Given the description of an element on the screen output the (x, y) to click on. 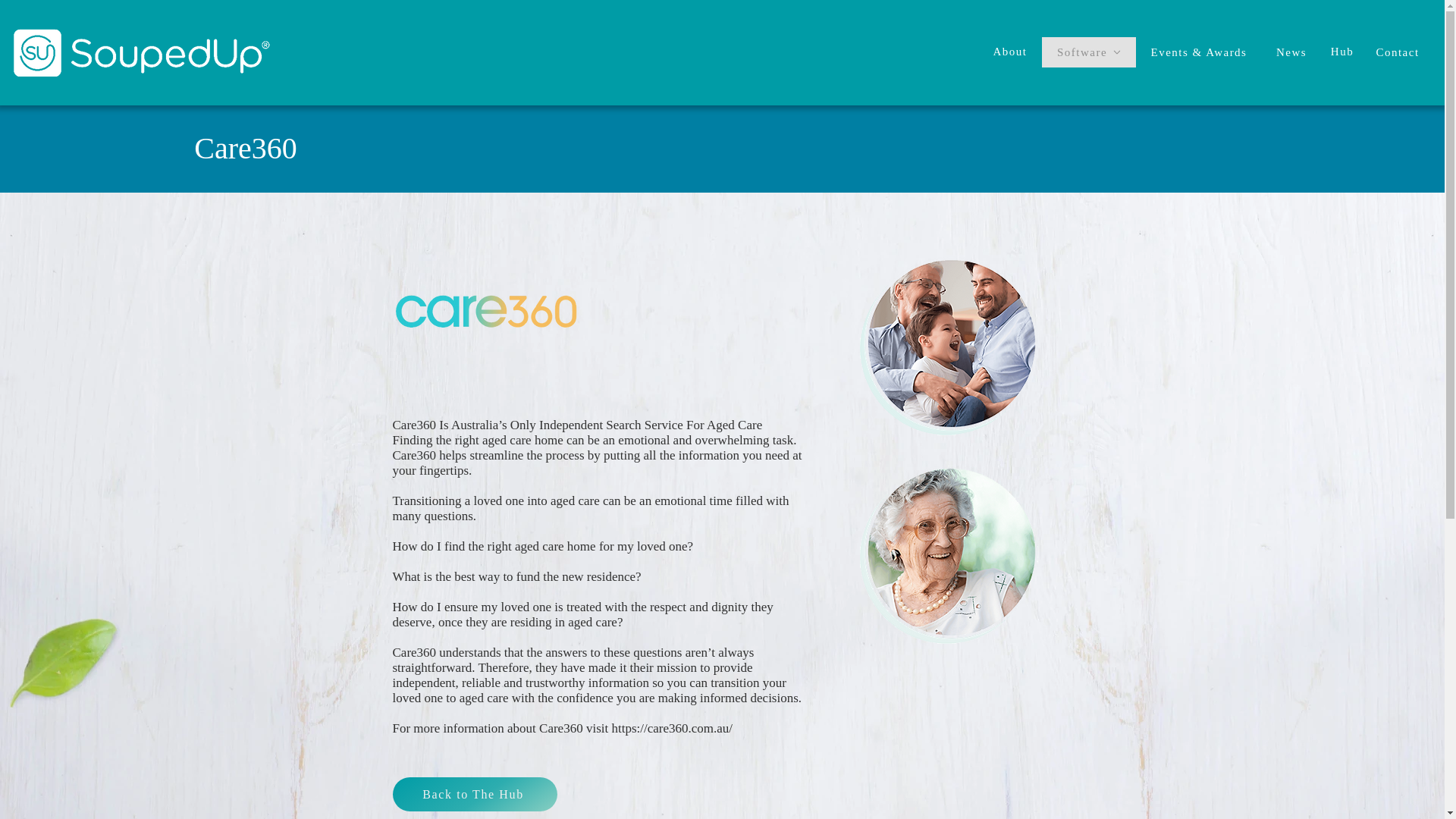
Back to The Hub (475, 794)
Care360 (486, 311)
Software (1088, 51)
About (1011, 51)
News (1292, 51)
Contact (1399, 51)
Hub (1343, 51)
